Given the description of an element on the screen output the (x, y) to click on. 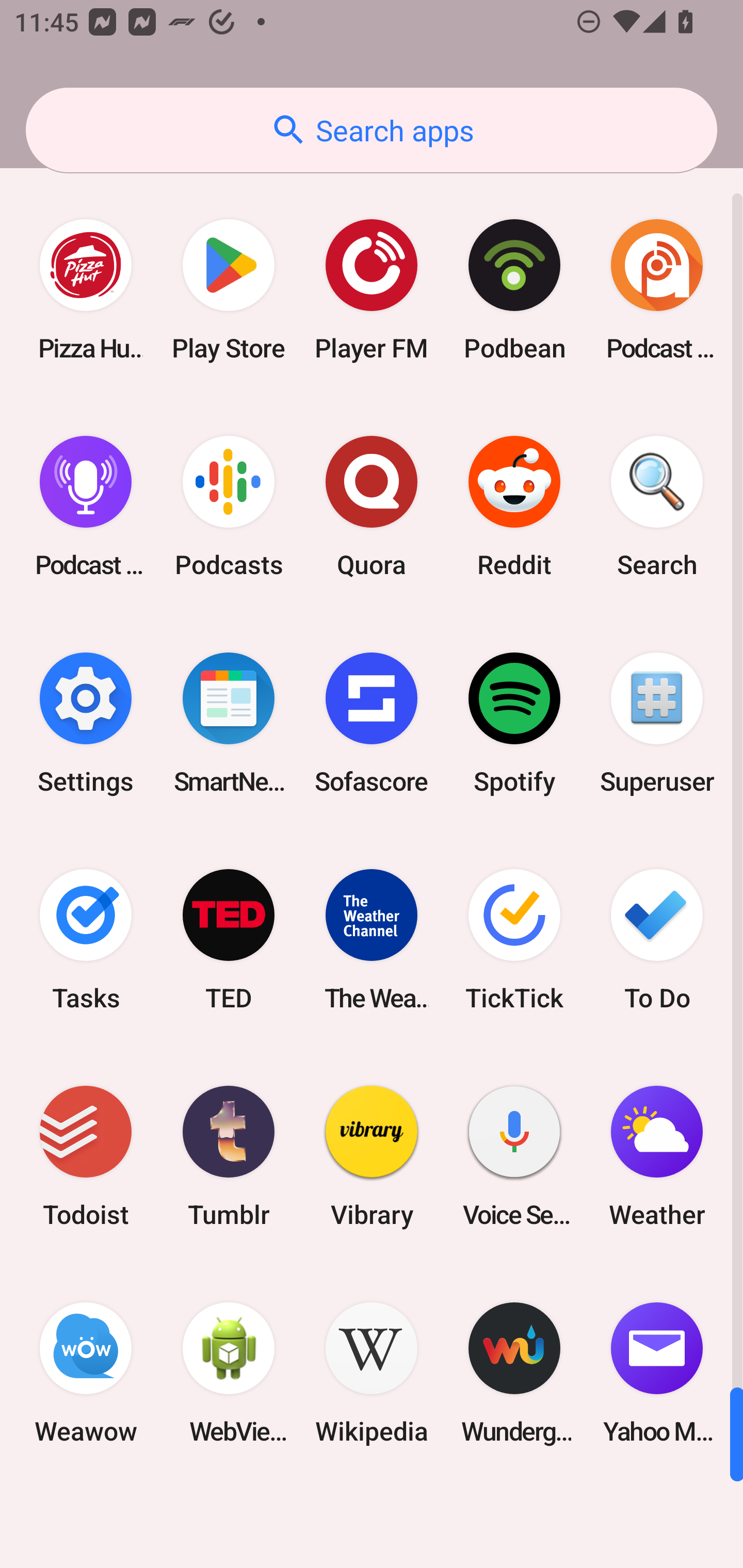
  Search apps (371, 130)
Pizza Hut HK & Macau (85, 289)
Play Store (228, 289)
Player FM (371, 289)
Podbean (514, 289)
Podcast Addict (656, 289)
Podcast Player (85, 506)
Podcasts (228, 506)
Quora (371, 506)
Reddit (514, 506)
Search (656, 506)
Settings (85, 722)
SmartNews (228, 722)
Sofascore (371, 722)
Spotify (514, 722)
Superuser (656, 722)
Tasks (85, 939)
TED (228, 939)
The Weather Channel (371, 939)
TickTick (514, 939)
To Do (656, 939)
Todoist (85, 1156)
Tumblr (228, 1156)
Vibrary (371, 1156)
Voice Search (514, 1156)
Weather (656, 1156)
Weawow (85, 1373)
WebView Browser Tester (228, 1373)
Wikipedia (371, 1373)
Wunderground (514, 1373)
Yahoo Mail (656, 1373)
